Given the description of an element on the screen output the (x, y) to click on. 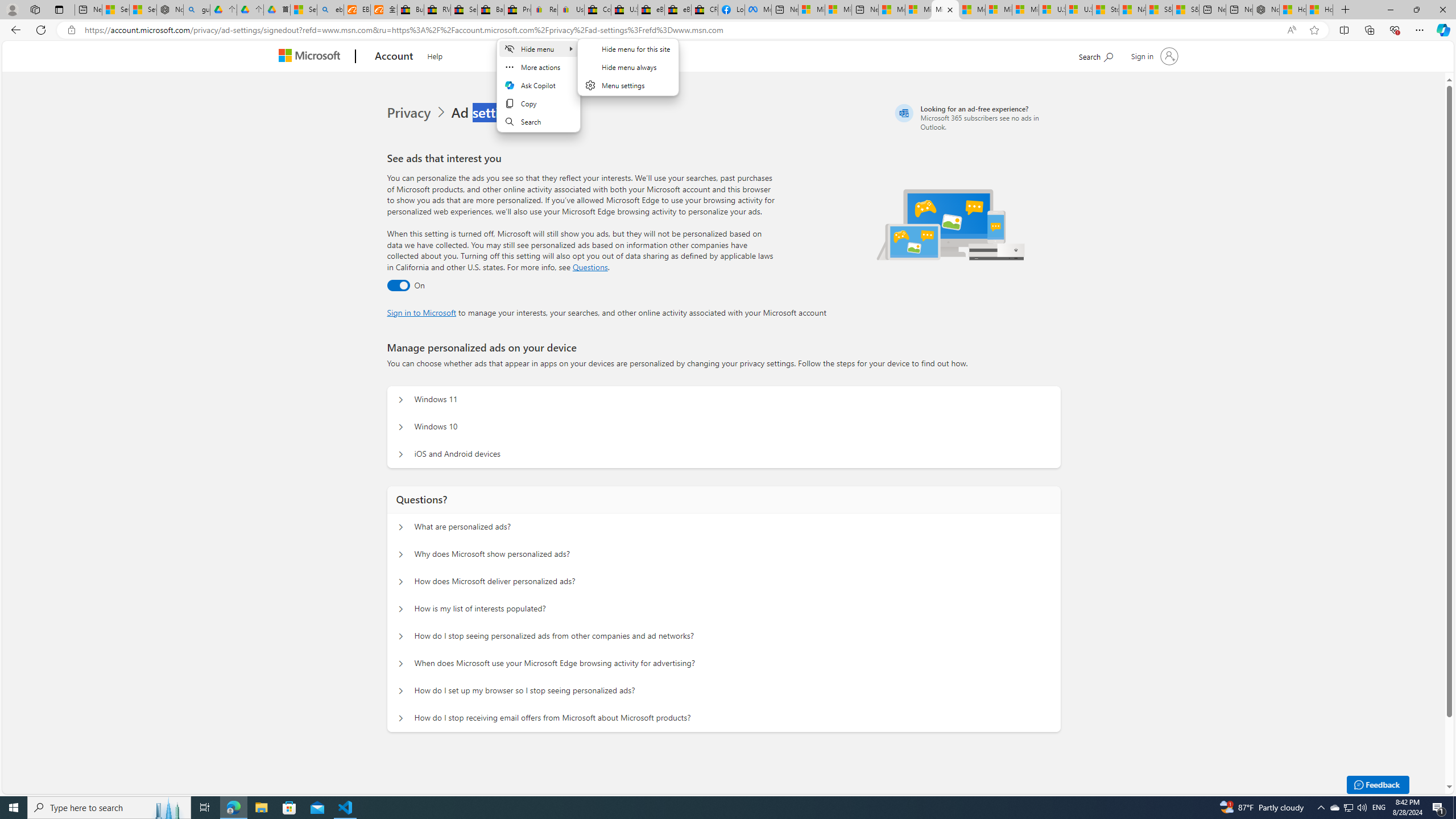
Looking for an ad-free experience? (976, 117)
Ask Copilot (537, 85)
Back (13, 29)
Hide menu (537, 49)
Personal Profile (12, 9)
Meta Store (757, 9)
Baby Keepsakes & Announcements for sale | eBay (491, 9)
U.S. State Privacy Disclosures - eBay Inc. (623, 9)
Hide menu for this site (628, 49)
Mini menu on text selection (537, 84)
Hide menu (628, 73)
Refresh (40, 29)
New Tab (1346, 9)
Privacy (418, 112)
